Given the description of an element on the screen output the (x, y) to click on. 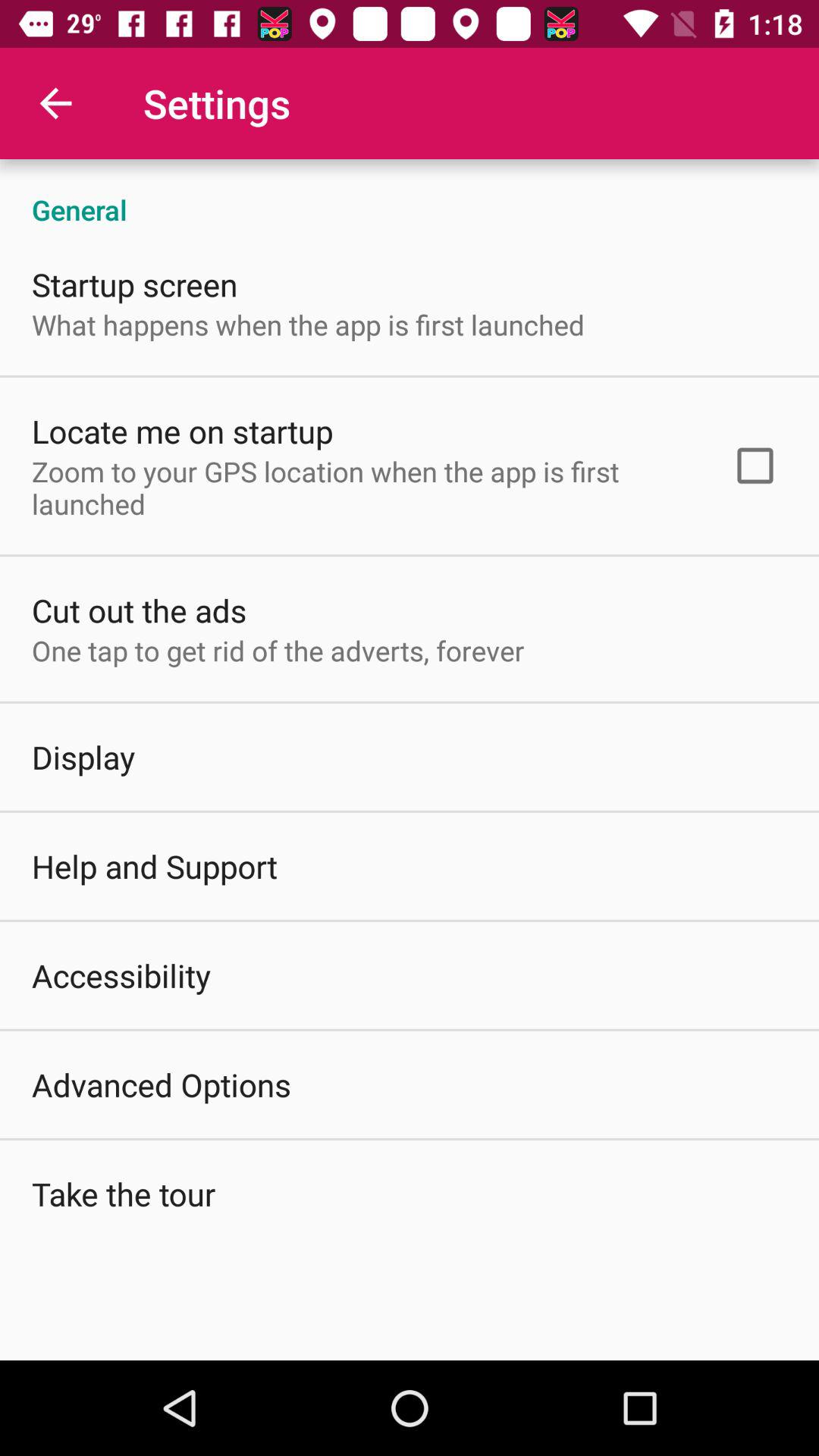
scroll to display item (83, 756)
